Given the description of an element on the screen output the (x, y) to click on. 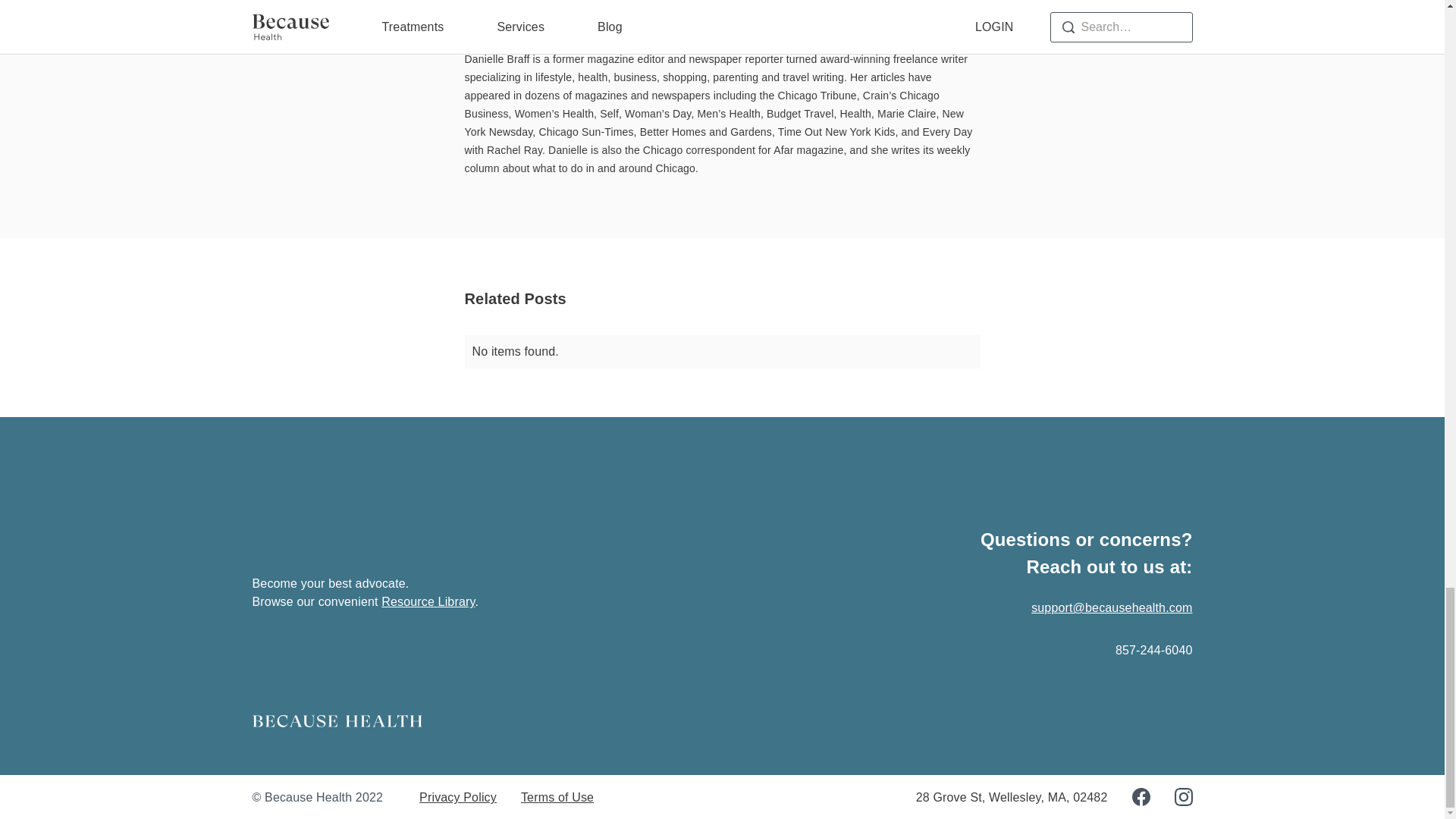
Terms of Use (557, 797)
857-244-6040 (1153, 649)
Resource Library (427, 601)
Privacy Policy (457, 797)
